Given the description of an element on the screen output the (x, y) to click on. 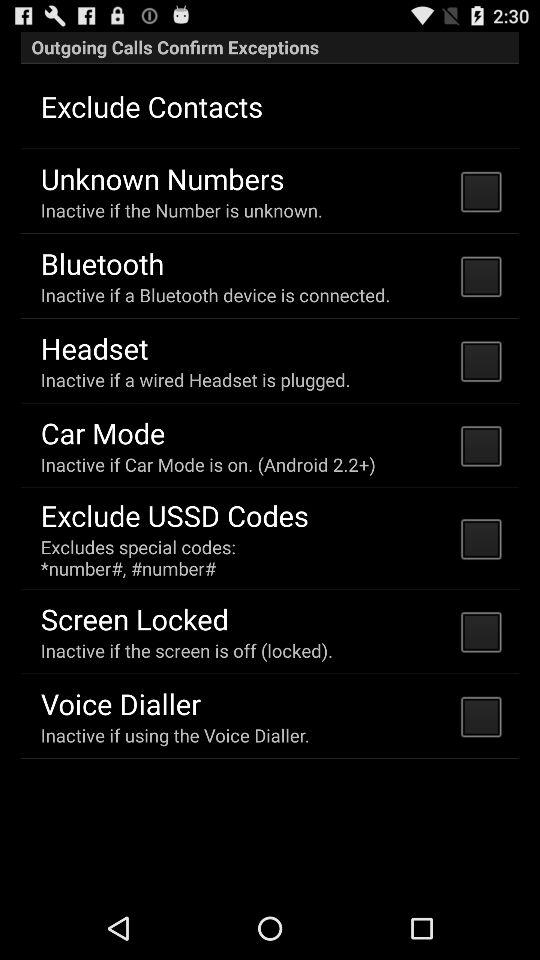
click on check box which is at right side of voice dialler (480, 716)
click on check box which is at the right side of bluetooth (480, 276)
click on the button which is last but second right side of the page (480, 538)
the checkbox to the right of headset (480, 360)
click on check box which is next to headset (480, 360)
the second check box from the top of the page (480, 276)
